Given the description of an element on the screen output the (x, y) to click on. 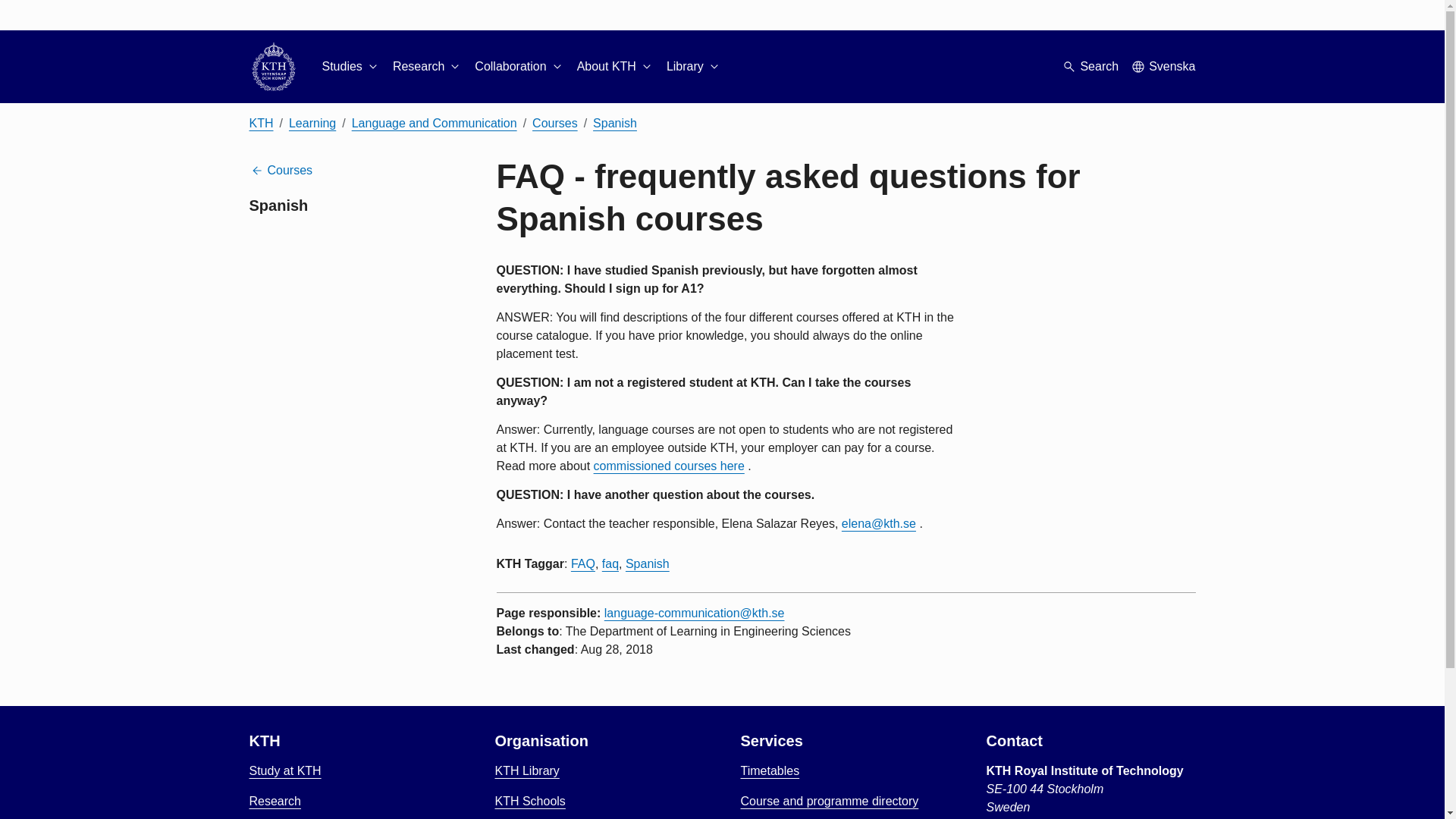
Collaboration (519, 66)
Research (428, 66)
Studies (350, 66)
About KTH (614, 66)
Library (694, 66)
